Given the description of an element on the screen output the (x, y) to click on. 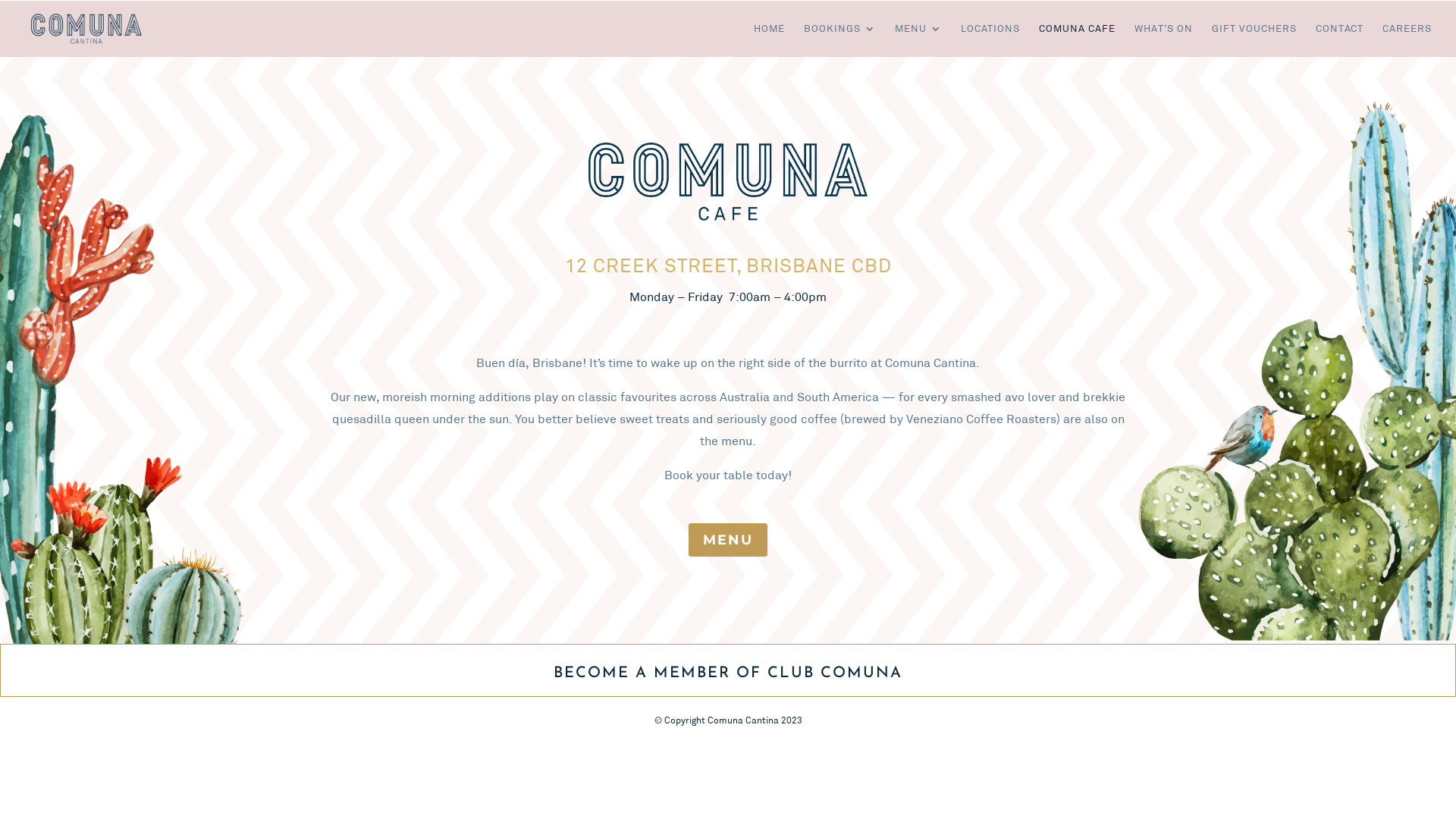
HOME Element type: text (768, 39)
MENU Element type: text (917, 39)
CAREERS Element type: text (1406, 39)
LOCATIONS Element type: text (989, 39)
COMUNA CAFE Element type: text (1076, 39)
CONTACT Element type: text (1339, 39)
MENU Element type: text (727, 539)
GIFT VOUCHERS Element type: text (1253, 39)
ComunaCafe_Navy Element type: hover (728, 181)
BOOKINGS Element type: text (839, 39)
